Given the description of an element on the screen output the (x, y) to click on. 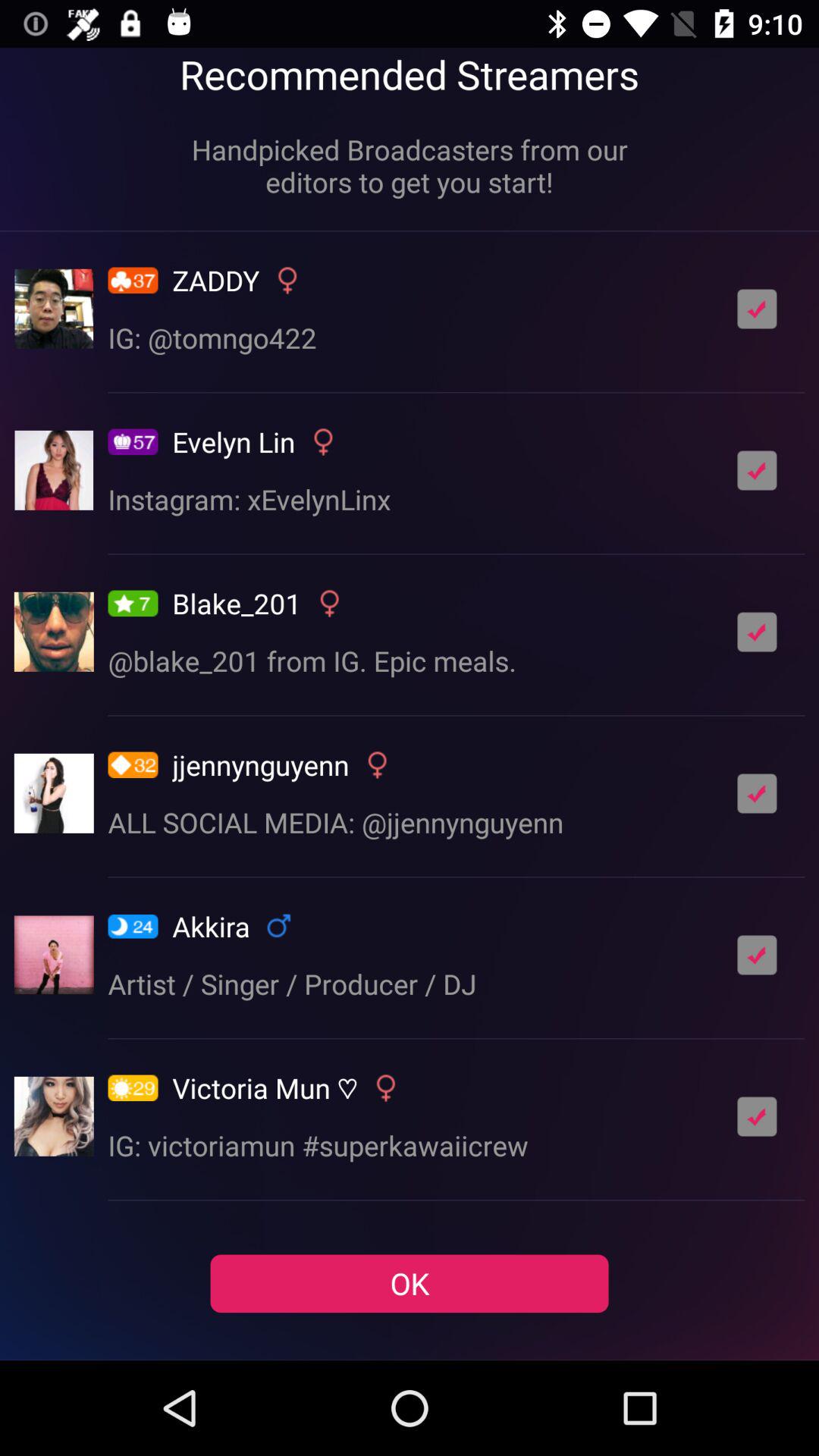
uncheck akira (756, 954)
